Given the description of an element on the screen output the (x, y) to click on. 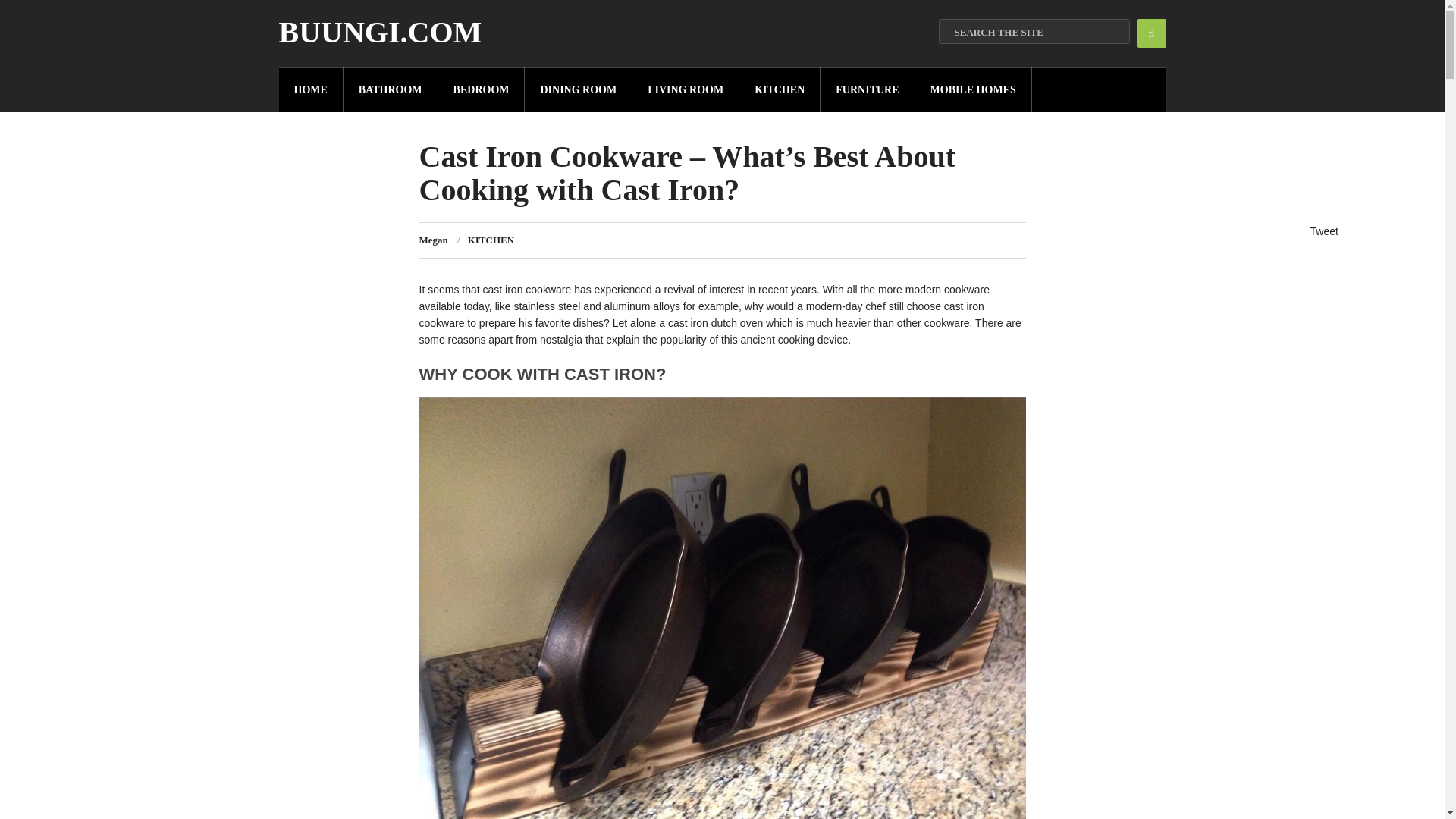
FURNITURE (867, 89)
View all posts in Kitchen (490, 239)
Tweet (1324, 231)
BUUNGI.COM (380, 32)
HOME (311, 89)
Posts by Megan (432, 239)
KITCHEN (490, 239)
BEDROOM (481, 89)
BATHROOM (390, 89)
LIVING ROOM (685, 89)
KITCHEN (780, 89)
Megan (432, 239)
MOBILE HOMES (973, 89)
DINING ROOM (577, 89)
